Given the description of an element on the screen output the (x, y) to click on. 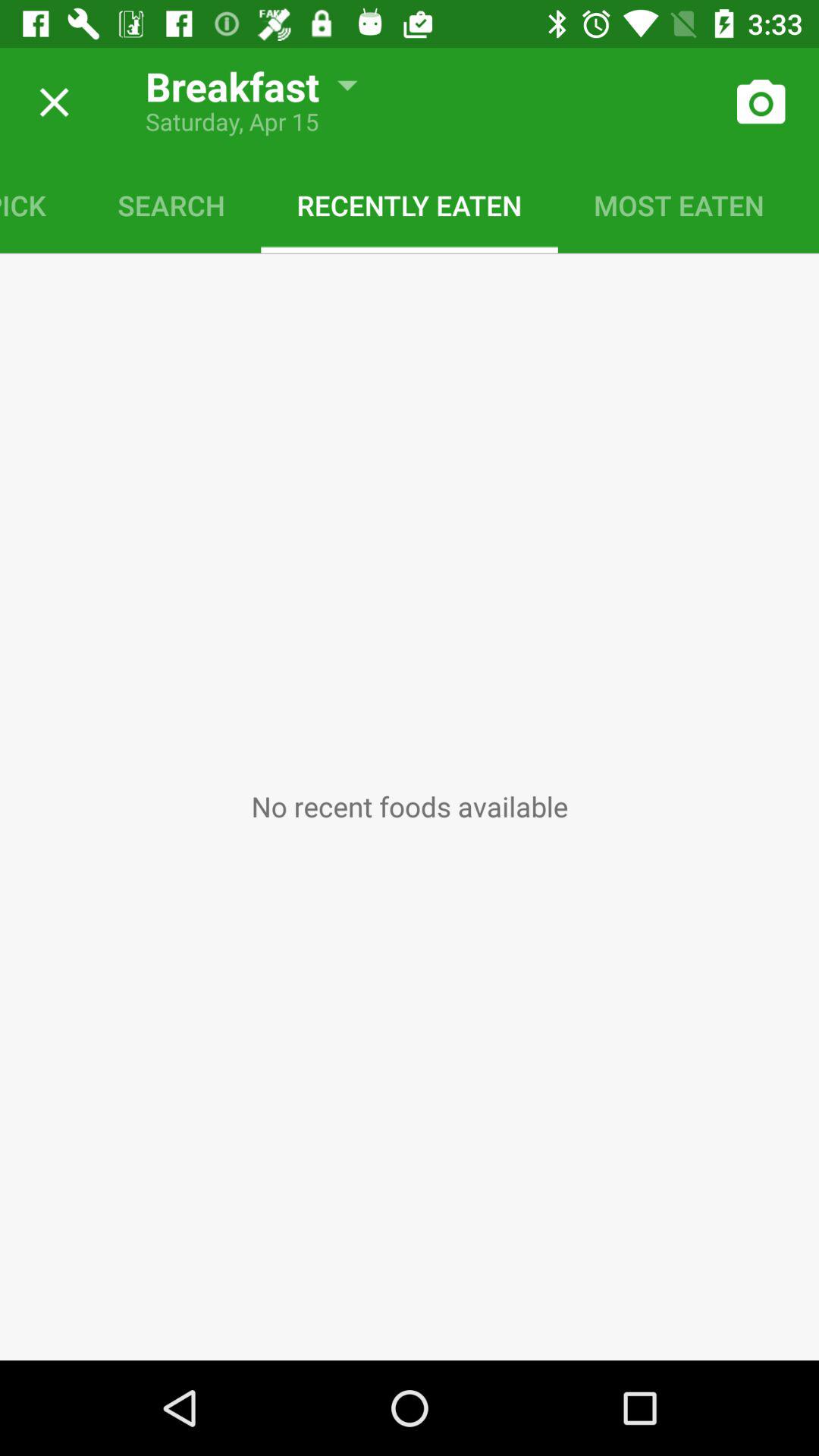
turn on item to the left of the recently eaten icon (171, 205)
